Given the description of an element on the screen output the (x, y) to click on. 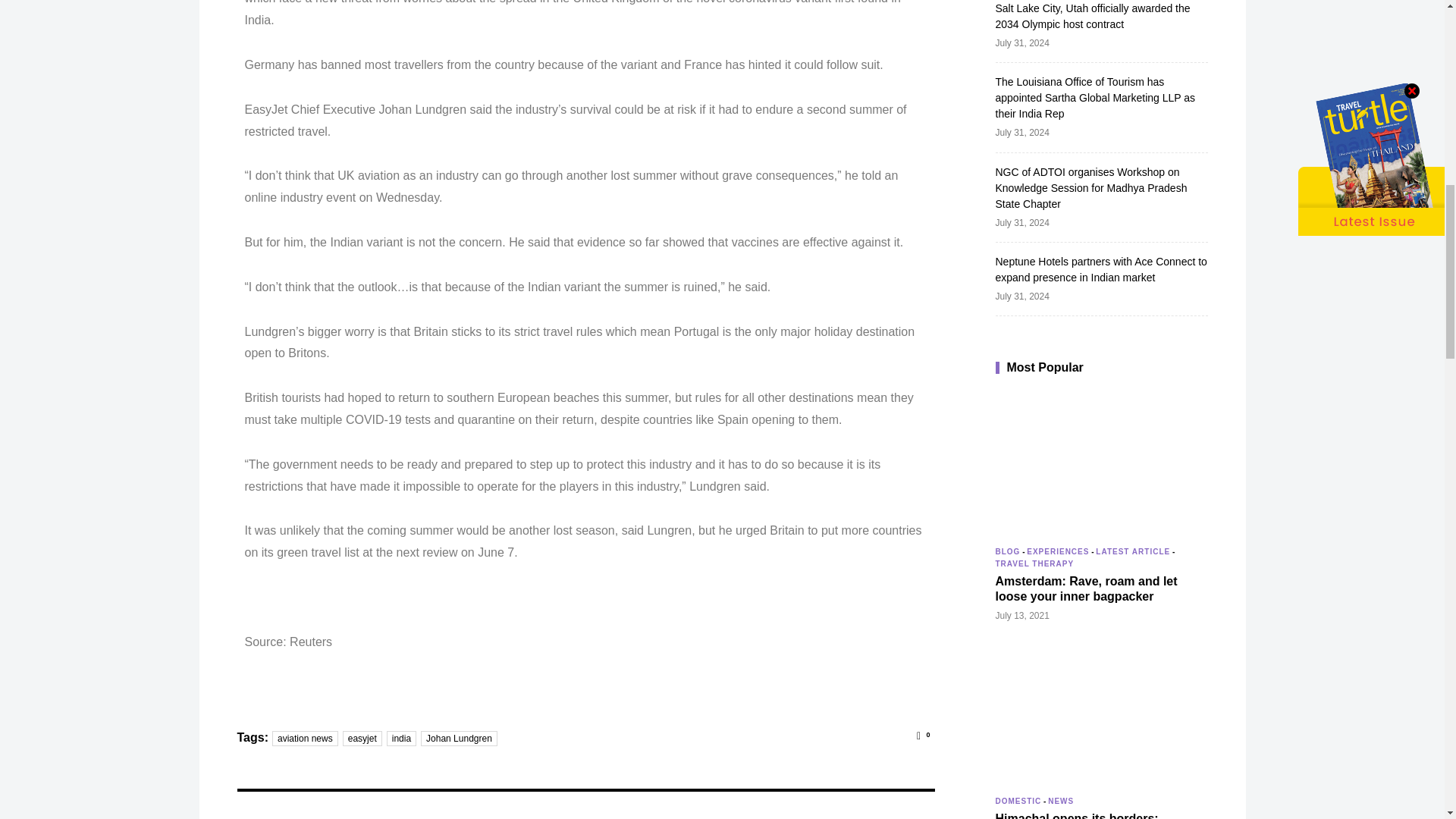
easyjet (361, 738)
Johan Lundgren (458, 738)
aviation news (304, 738)
india (401, 738)
